Given the description of an element on the screen output the (x, y) to click on. 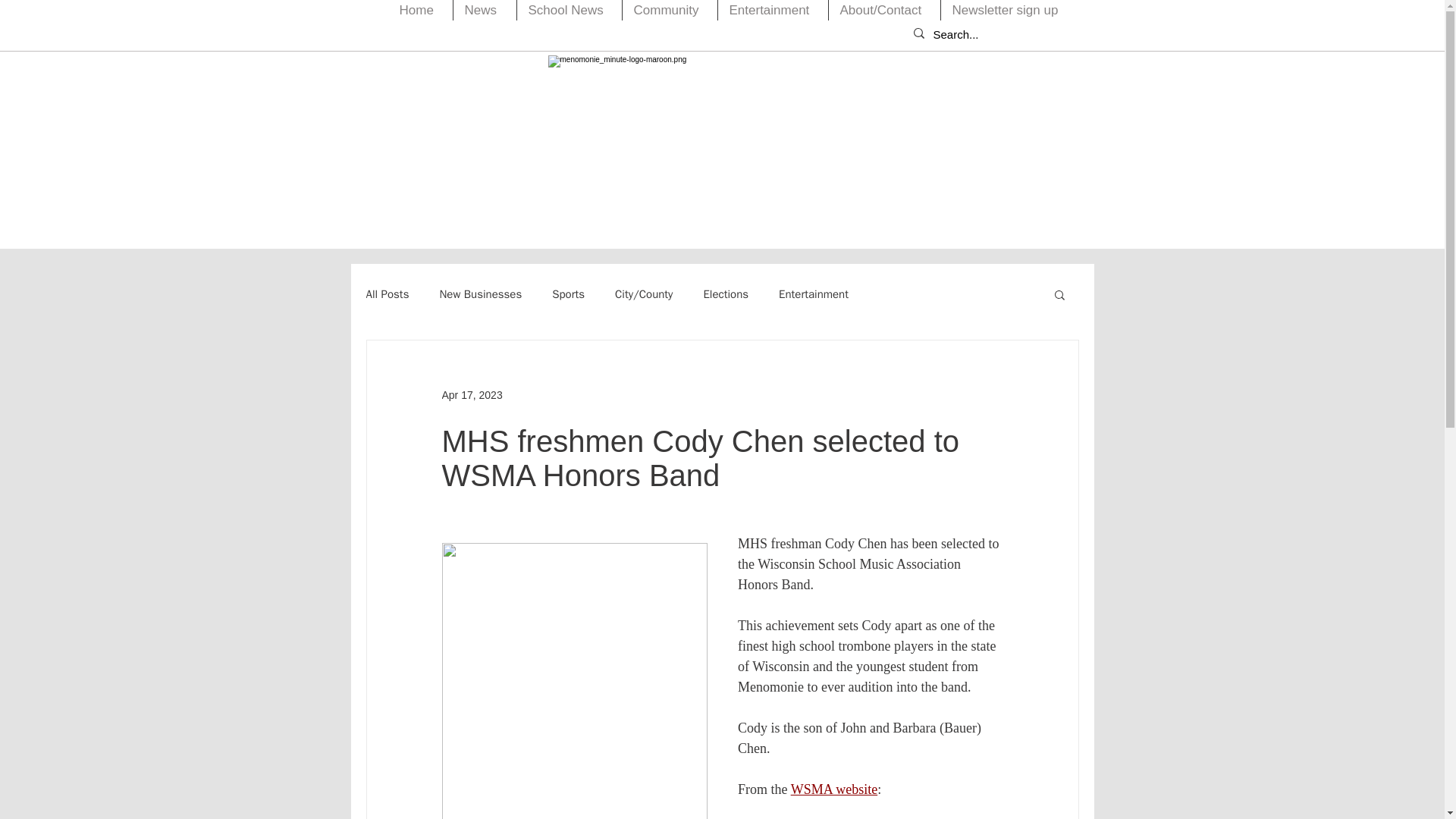
All Posts (387, 293)
New Businesses (480, 293)
Elections (725, 293)
WSMA website (833, 789)
Entertainment (813, 293)
Newsletter sign up (1007, 10)
Sports (568, 293)
Apr 17, 2023 (471, 394)
Home (420, 10)
